Given the description of an element on the screen output the (x, y) to click on. 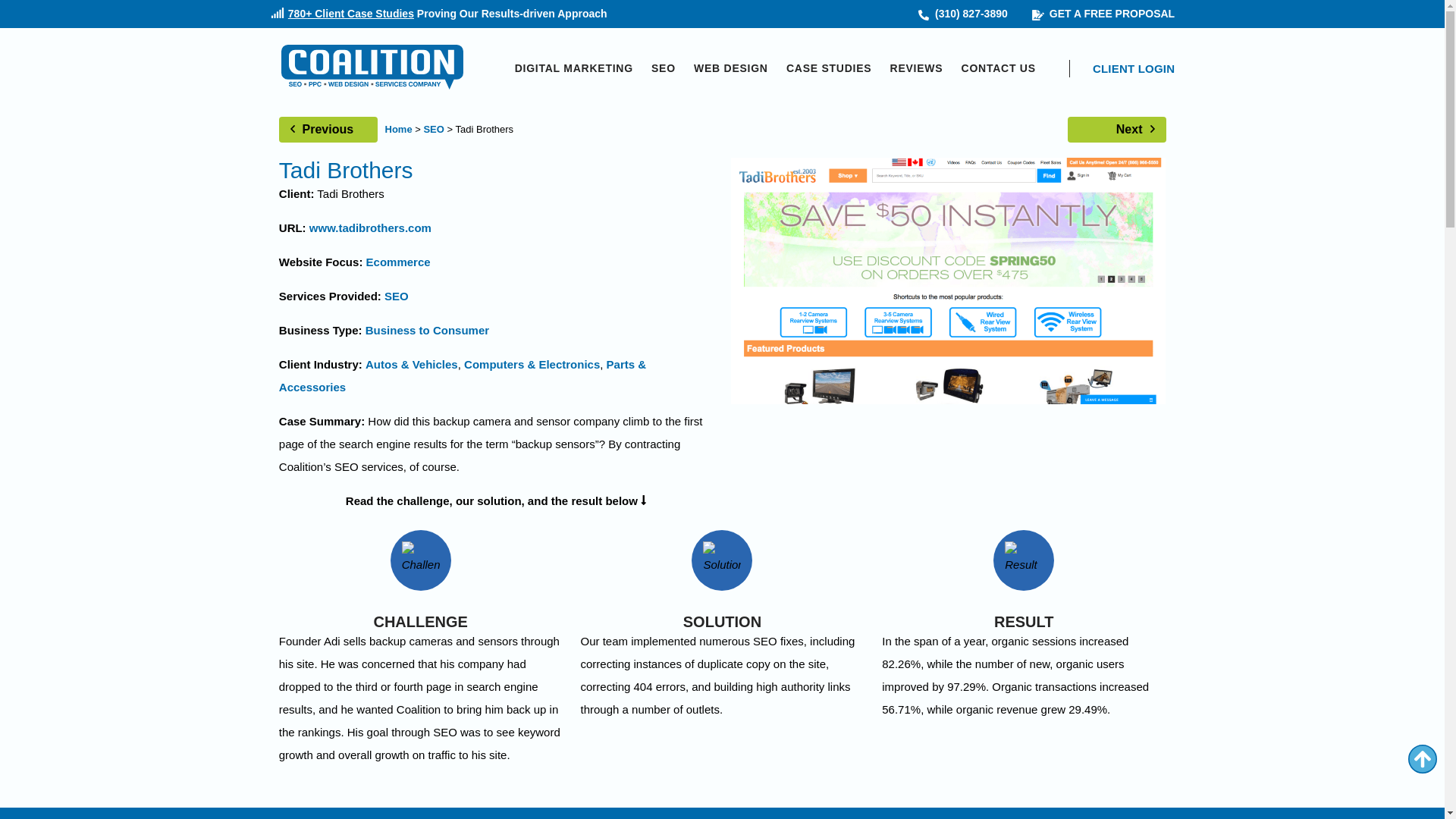
GET A FREE PROPOSAL (1102, 13)
DIGITAL MARKETING (574, 67)
Coalition Technologies (372, 68)
Digital Marketing (574, 67)
